Given the description of an element on the screen output the (x, y) to click on. 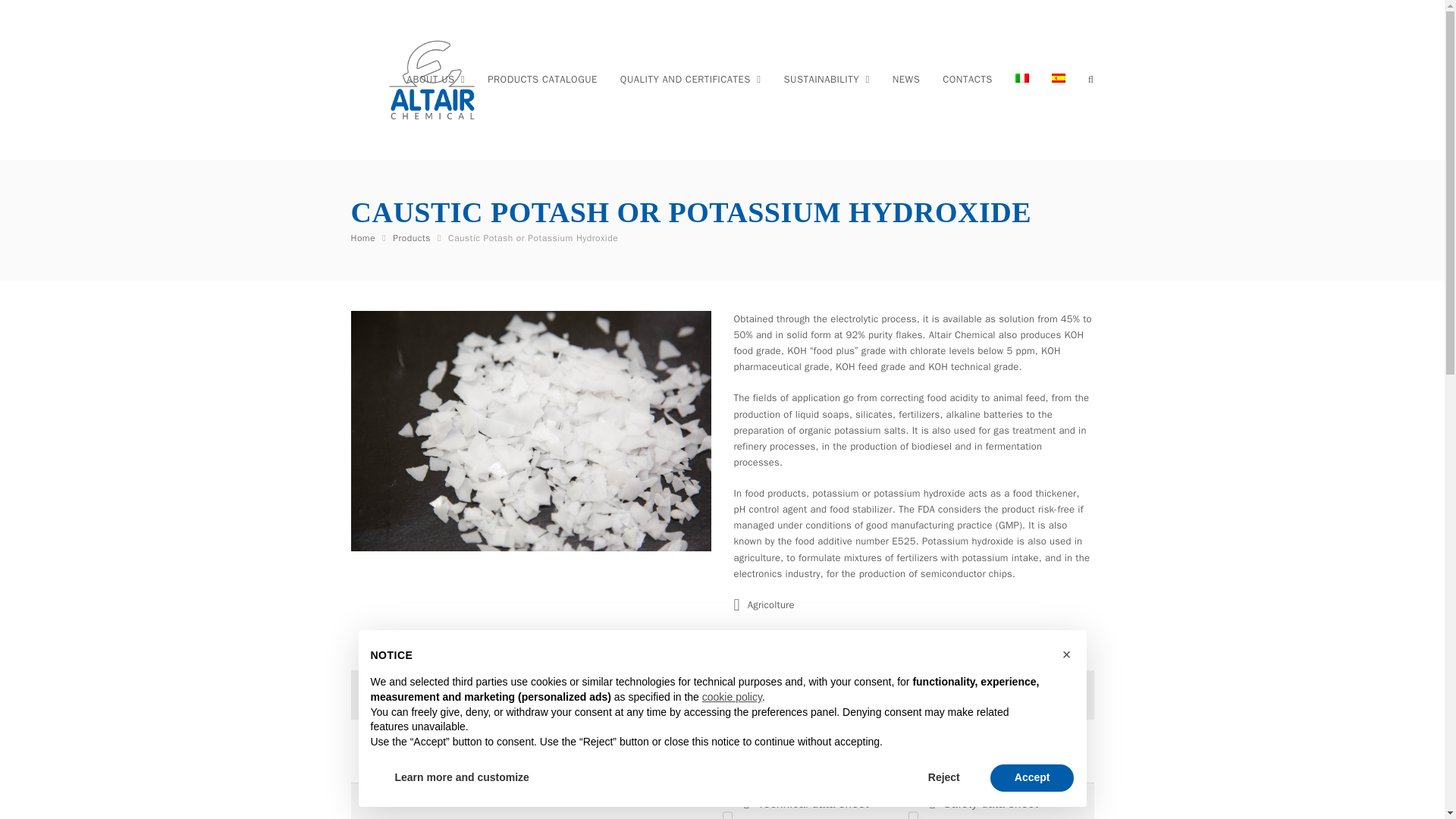
Safety data sheet (984, 751)
Agricolture (771, 604)
SP-03-I1 KOH FLAKES Rev.01 by 04.01.2024 (804, 751)
on (367, 693)
ABOUT US (436, 79)
Technical data sheet (804, 806)
Home (362, 237)
PRODUCTS CATALOGUE (542, 79)
Safety data sheet (984, 806)
QUALITY AND CERTIFICATES (690, 79)
SUSTAINABILITY (826, 79)
on (727, 752)
SDS-17 EN KOH SCAGLIE (984, 806)
NEWS (905, 79)
on (913, 752)
